Given the description of an element on the screen output the (x, y) to click on. 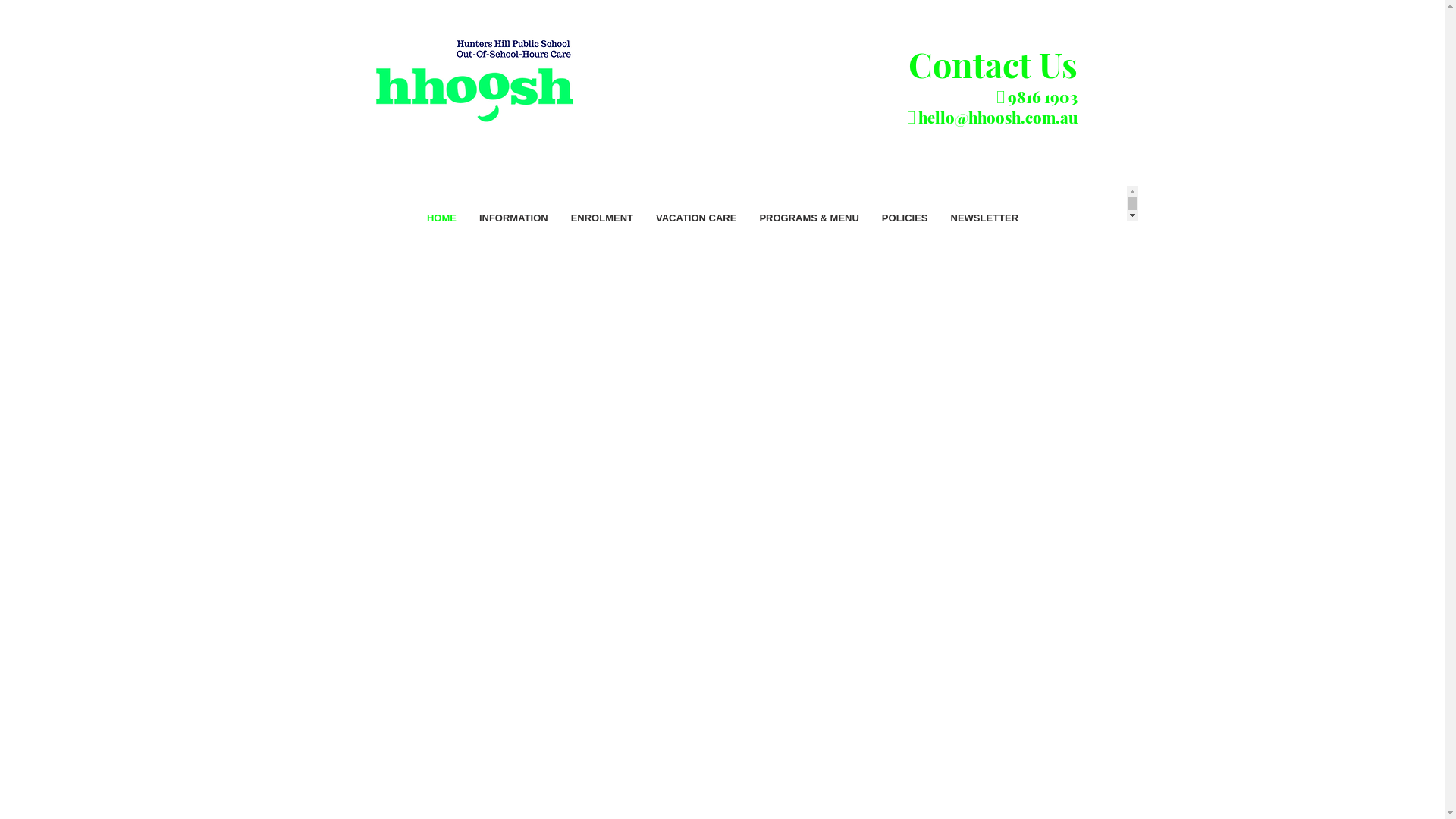
NEWSLETTER Element type: text (984, 230)
PROGRAMS & MENU Element type: text (808, 230)
POLICIES Element type: text (904, 230)
hello@hhoosh.com.au Element type: text (996, 116)
VACATION CARE Element type: text (695, 230)
ENROLMENT Element type: text (601, 230)
HOME Element type: text (441, 230)
INFORMATION Element type: text (513, 230)
LOGO (NEW).png Element type: hover (474, 83)
